Given the description of an element on the screen output the (x, y) to click on. 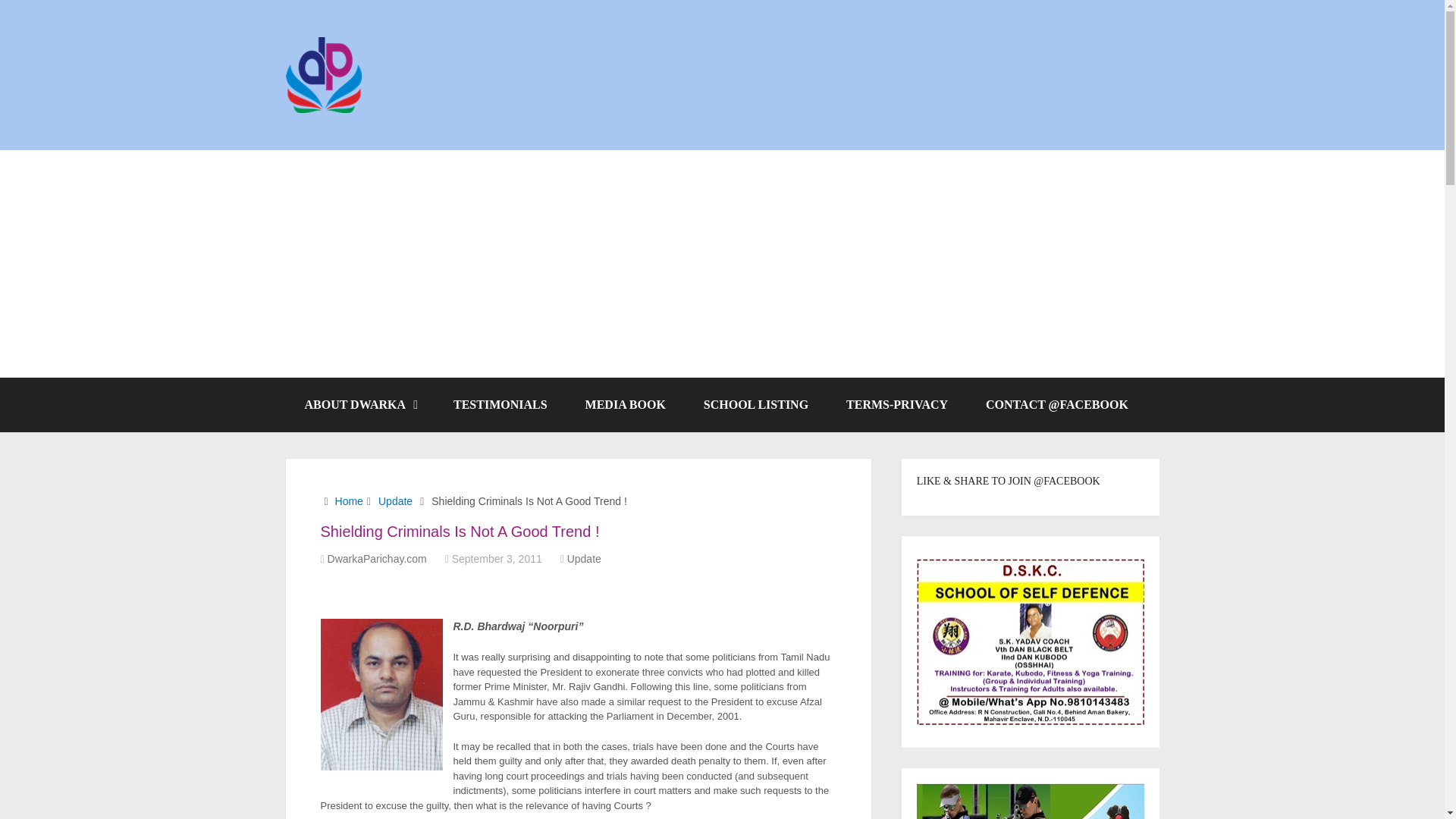
SCHOOL LISTING (755, 404)
ABOUT DWARKA (359, 404)
DwarkaParichay.com (376, 558)
Update (584, 558)
Posts by DwarkaParichay.com (376, 558)
View all posts in Update (584, 558)
TERMS-PRIVACY (896, 404)
TESTIMONIALS (499, 404)
Home (348, 500)
Update (395, 500)
MEDIA BOOK (625, 404)
